Given the description of an element on the screen output the (x, y) to click on. 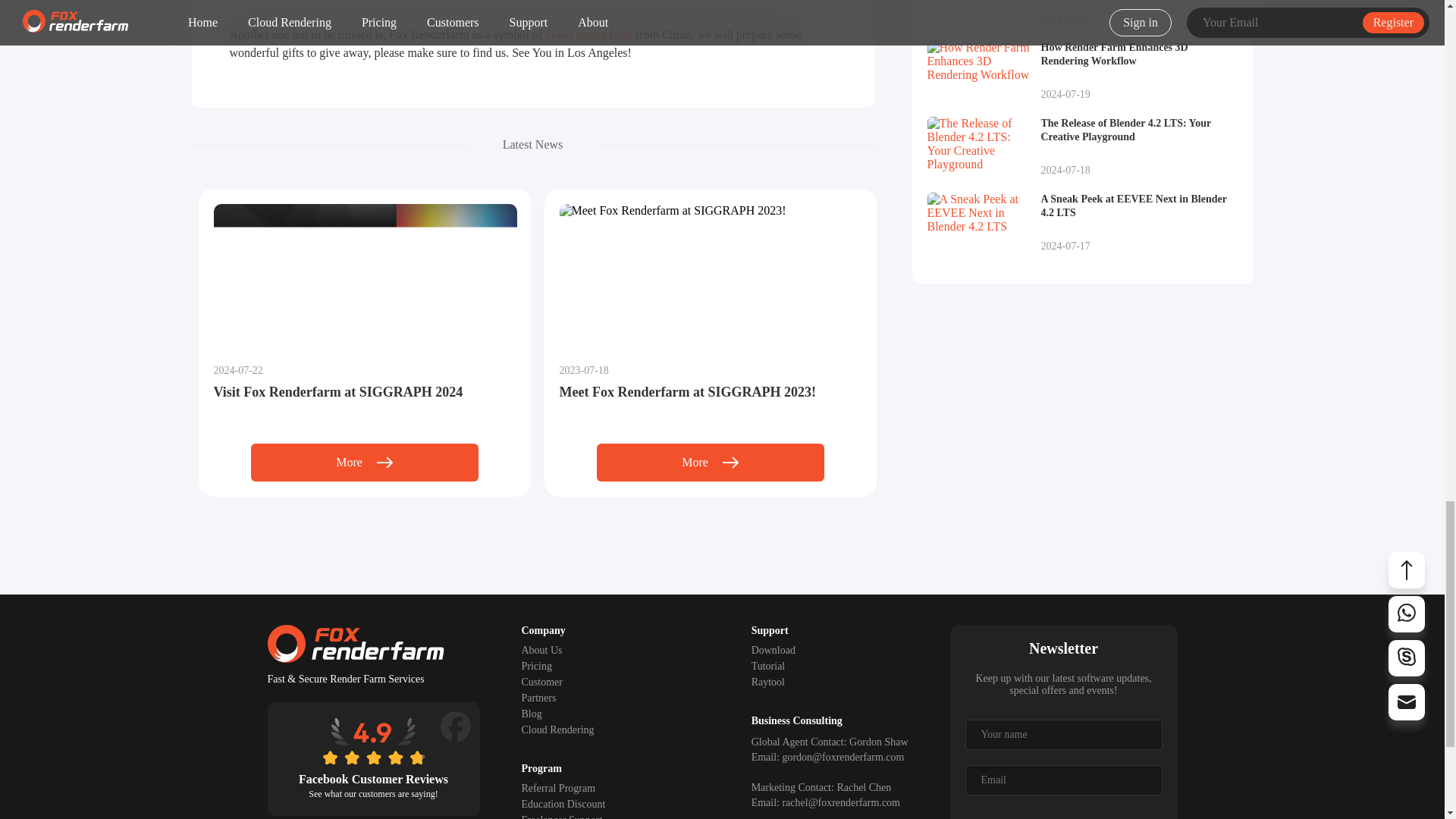
Please fill out this field. (1062, 734)
cloud render farm (587, 33)
